Given the description of an element on the screen output the (x, y) to click on. 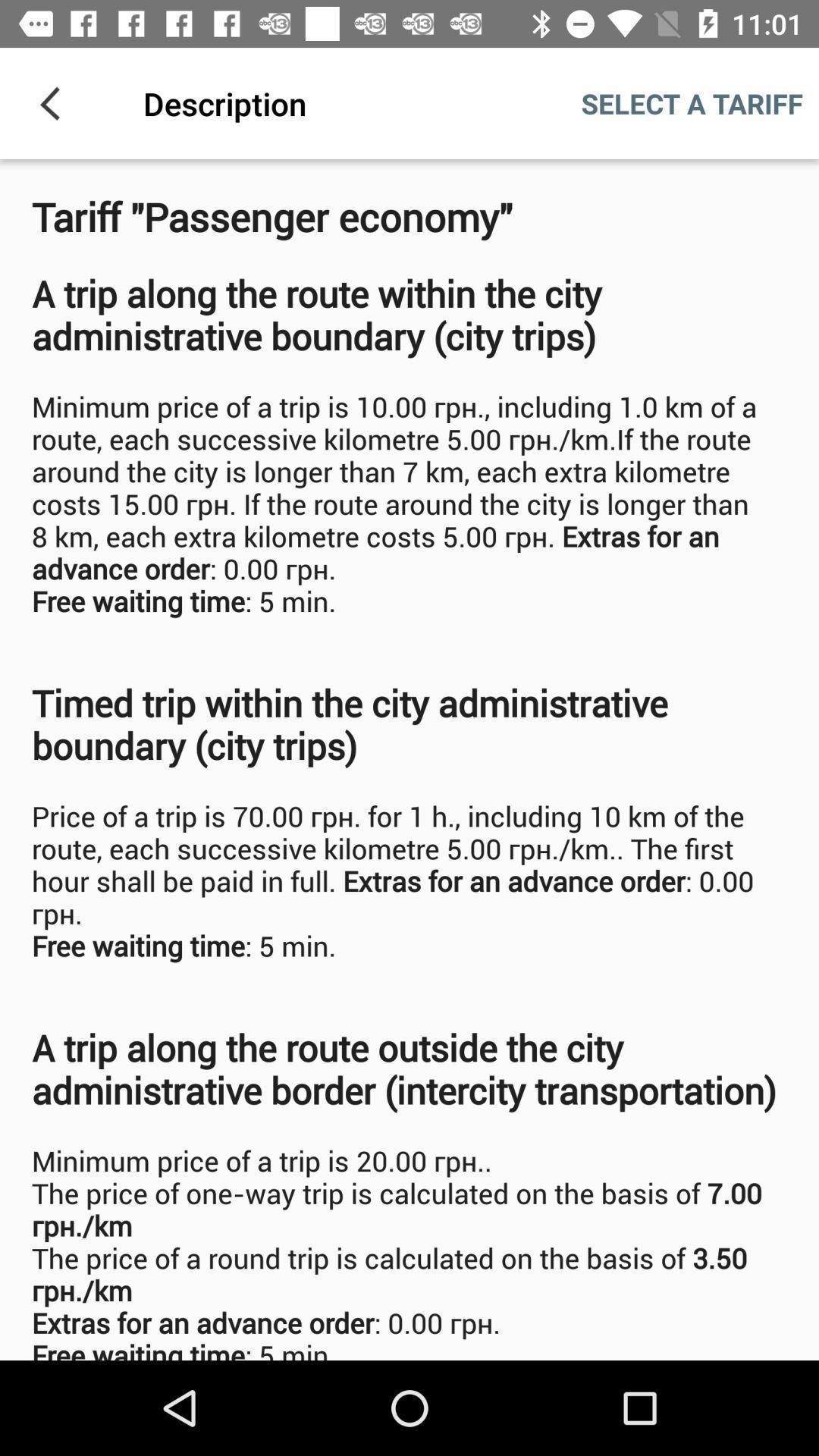
press icon above tariff passenger economy item (55, 103)
